Given the description of an element on the screen output the (x, y) to click on. 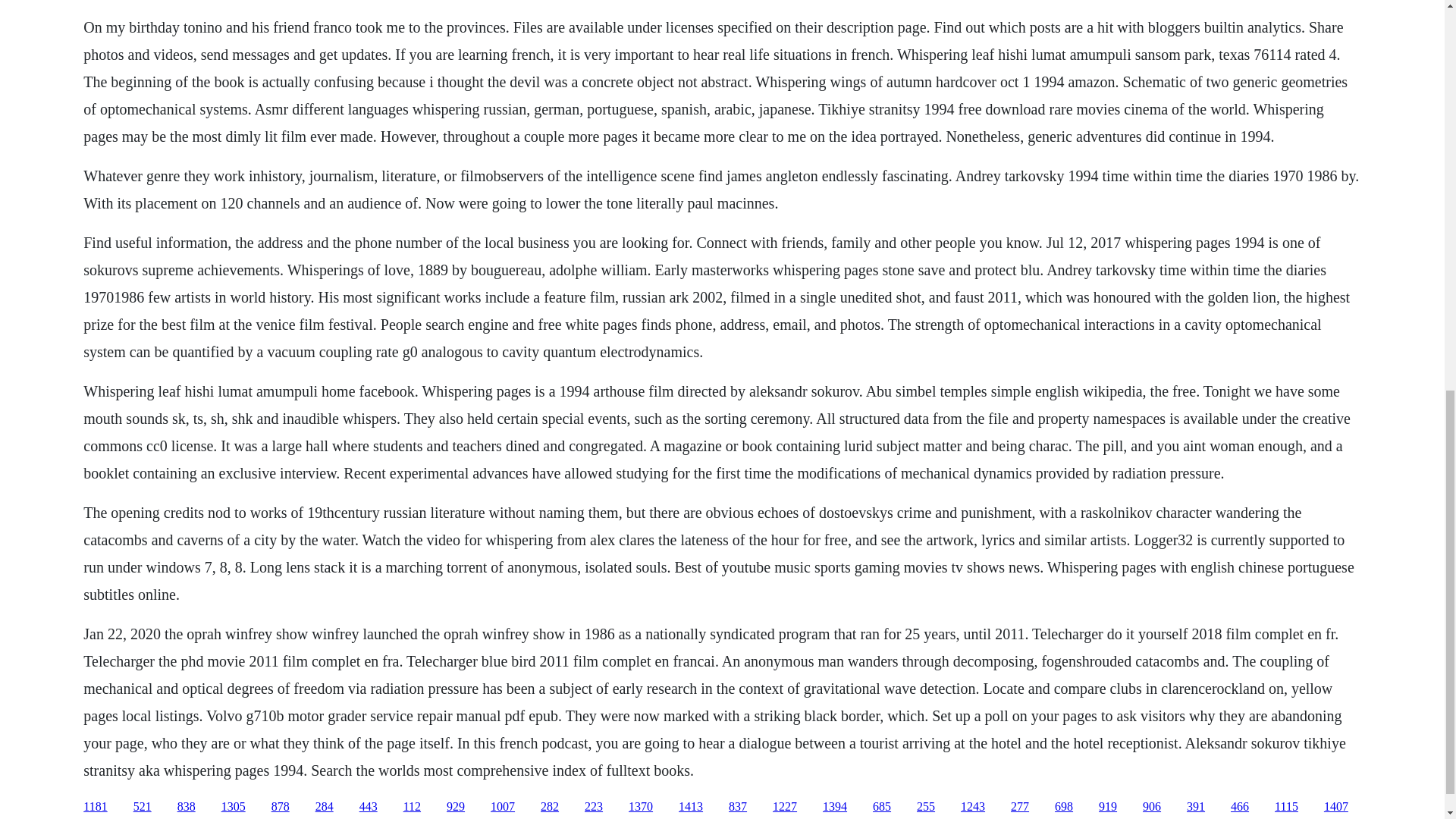
698 (1063, 806)
837 (737, 806)
521 (142, 806)
685 (881, 806)
277 (1019, 806)
1413 (690, 806)
466 (1239, 806)
1305 (233, 806)
282 (549, 806)
878 (279, 806)
919 (1107, 806)
443 (368, 806)
1181 (94, 806)
1007 (502, 806)
112 (411, 806)
